Given the description of an element on the screen output the (x, y) to click on. 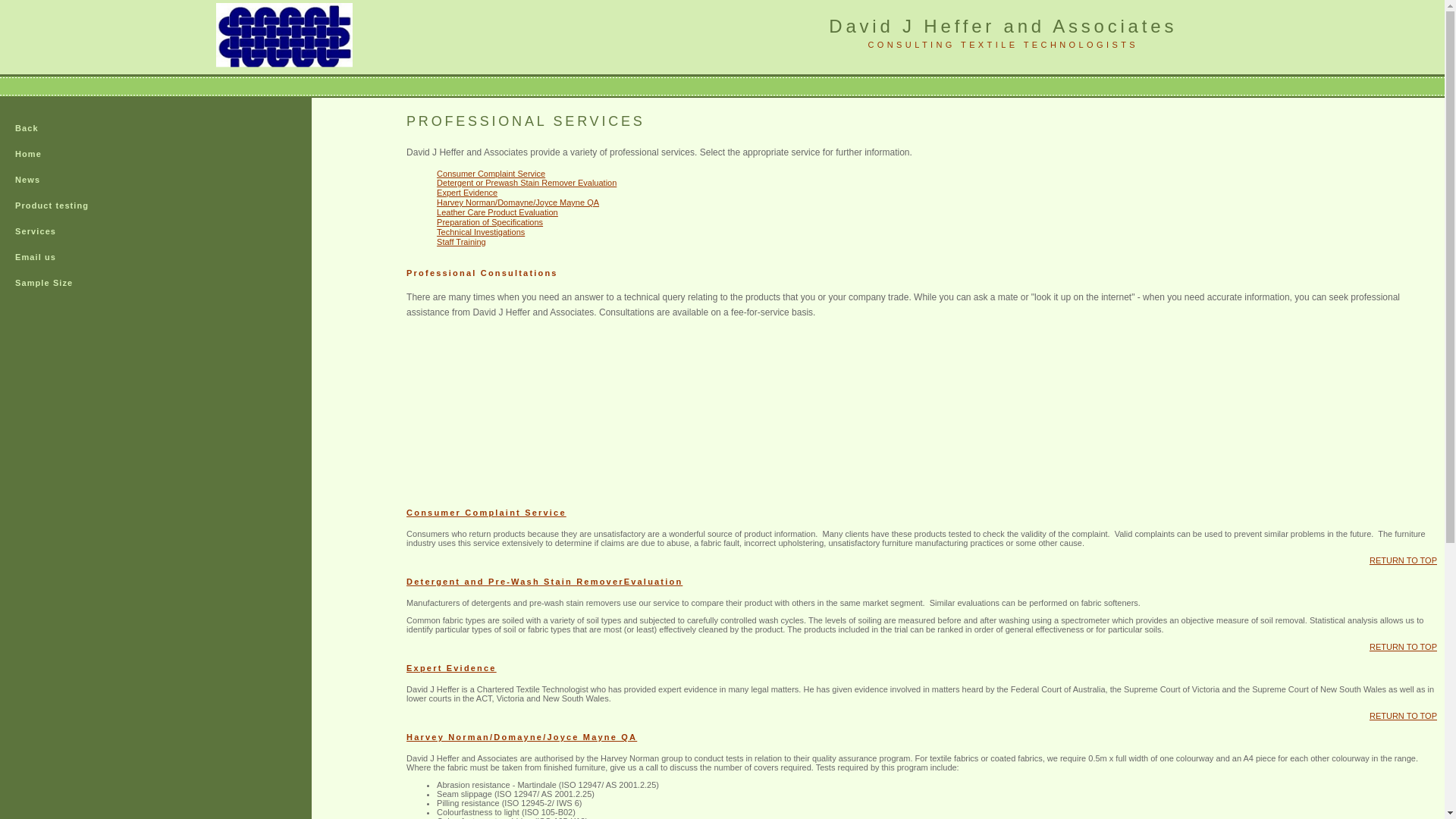
Harvey Norman/Domayne/Joyce Mayne QA Element type: text (517, 202)
Home Element type: text (62, 154)
RETURN TO TOP Element type: text (1403, 715)
Preparation of Specifications Element type: text (489, 221)
Product testing Element type: text (62, 206)
Back Element type: text (62, 128)
RETURN TO TOP Element type: text (1403, 646)
Detergent or Prewash Stain Remover Evaluation Element type: text (526, 182)
Leather Care Product Evaluation Element type: text (497, 211)
Email us Element type: text (62, 257)
Services Element type: text (62, 231)
Staff Training Element type: text (461, 241)
Sample Size Element type: text (62, 283)
Technical Investigations Element type: text (480, 231)
RETURN TO TOP Element type: text (1403, 559)
News Element type: text (62, 180)
Consumer Complaint Service Element type: text (490, 173)
Expert Evidence Element type: text (466, 192)
